Given the description of an element on the screen output the (x, y) to click on. 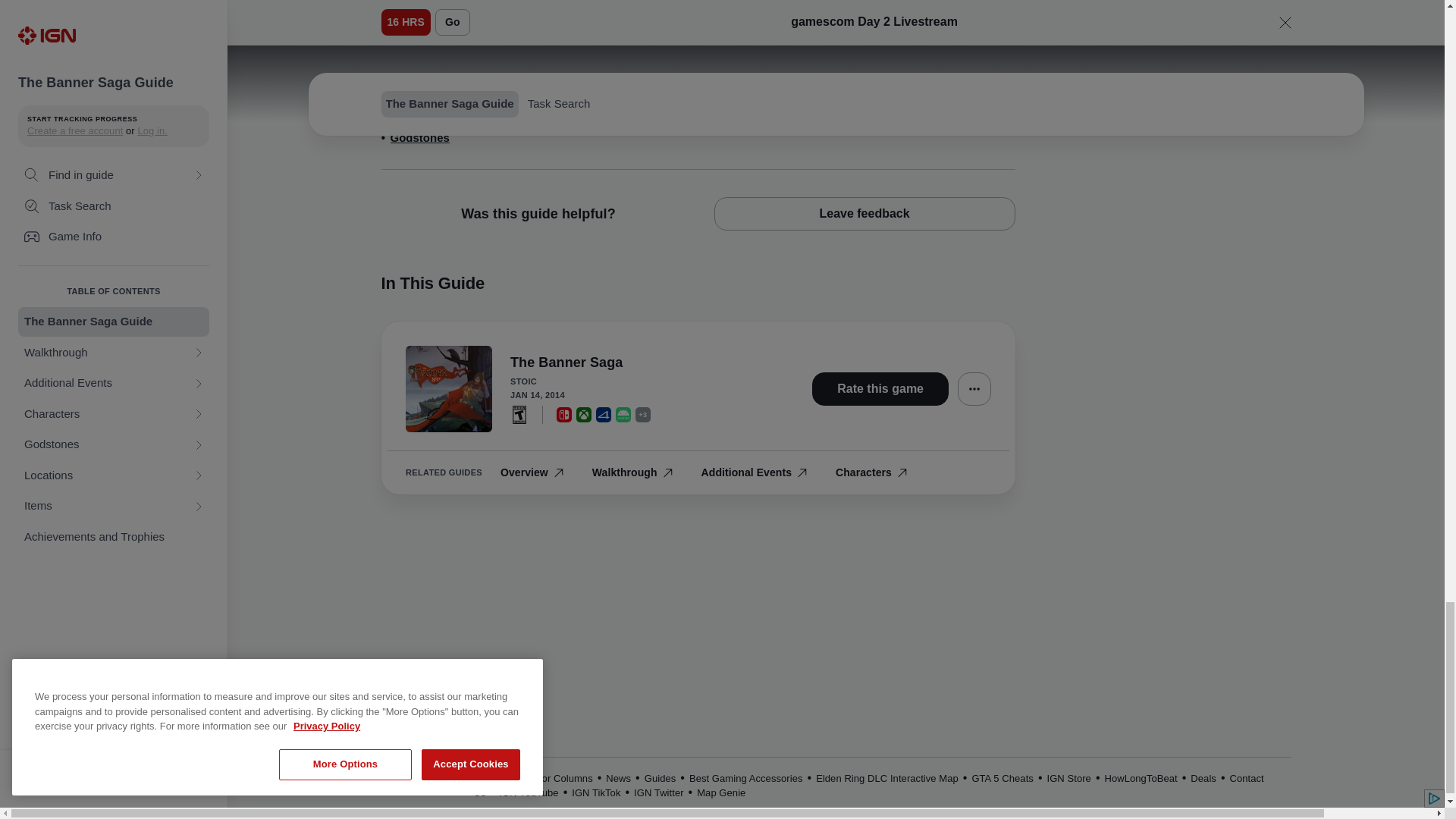
PlayStation 4 (603, 413)
Nintendo Switch (564, 413)
Additional Events (438, 85)
Xbox One (583, 413)
ESRB: Teen (518, 413)
Walkthrough (424, 58)
